Given the description of an element on the screen output the (x, y) to click on. 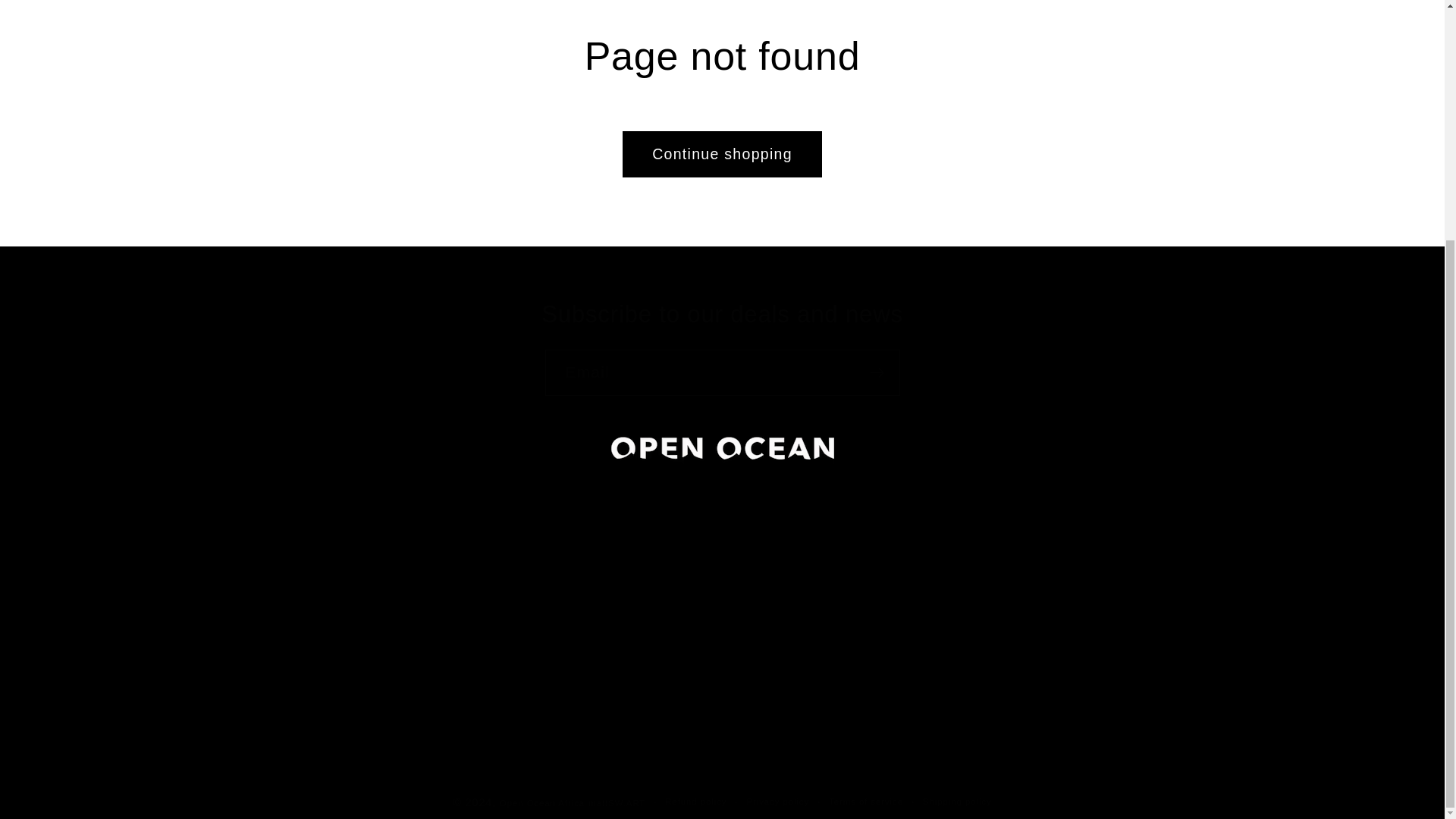
Shop 53a (543, 581)
Open Ocean Africa (542, 802)
Email (721, 372)
Continue shopping (722, 154)
Subscribe to our deals and news (721, 314)
